Given the description of an element on the screen output the (x, y) to click on. 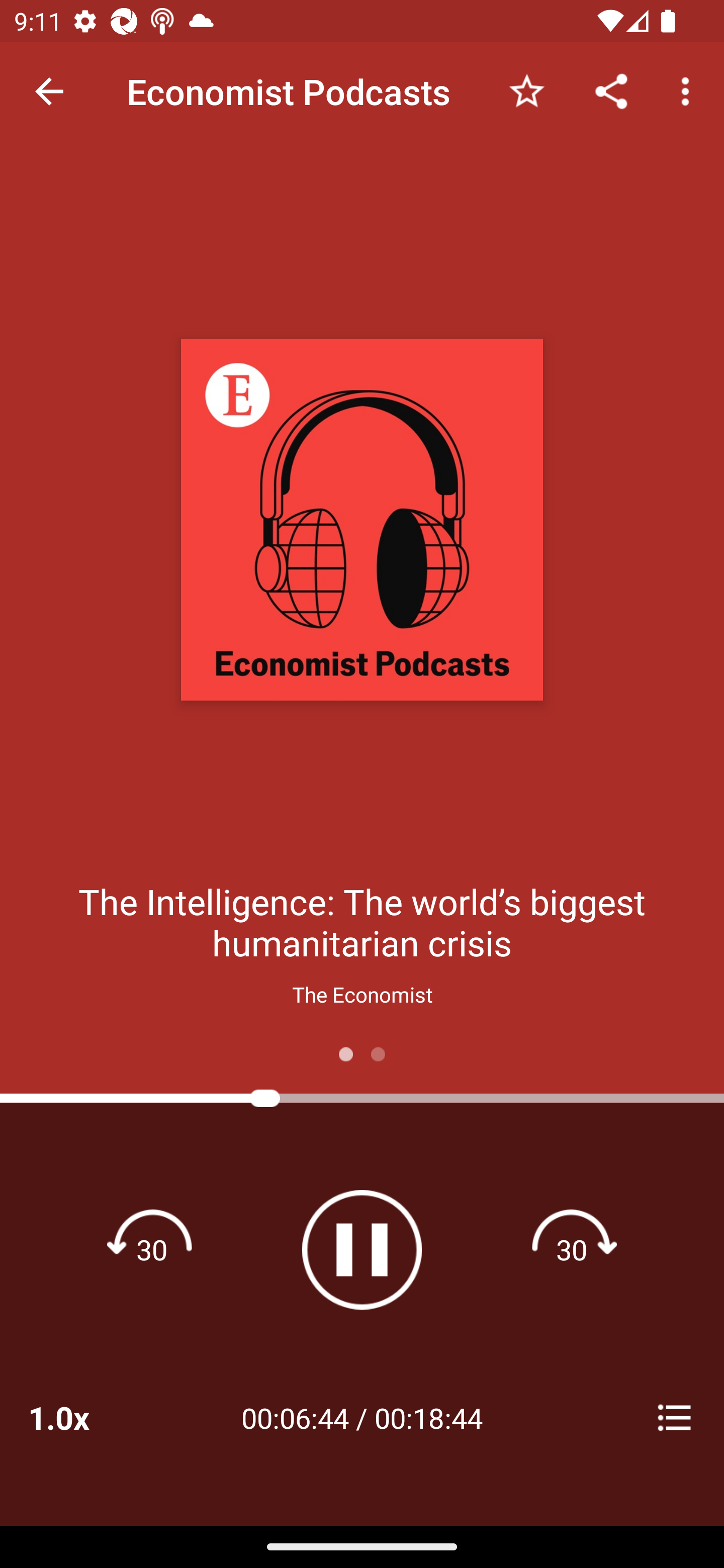
Navigate up (49, 91)
Add to Favorites (526, 90)
Share... (611, 90)
More options (688, 90)
The Economist (361, 994)
Pause (361, 1249)
Rewind (151, 1249)
Fast forward (571, 1249)
1.0x Playback Speeds (84, 1417)
00:18:44 (428, 1417)
